Given the description of an element on the screen output the (x, y) to click on. 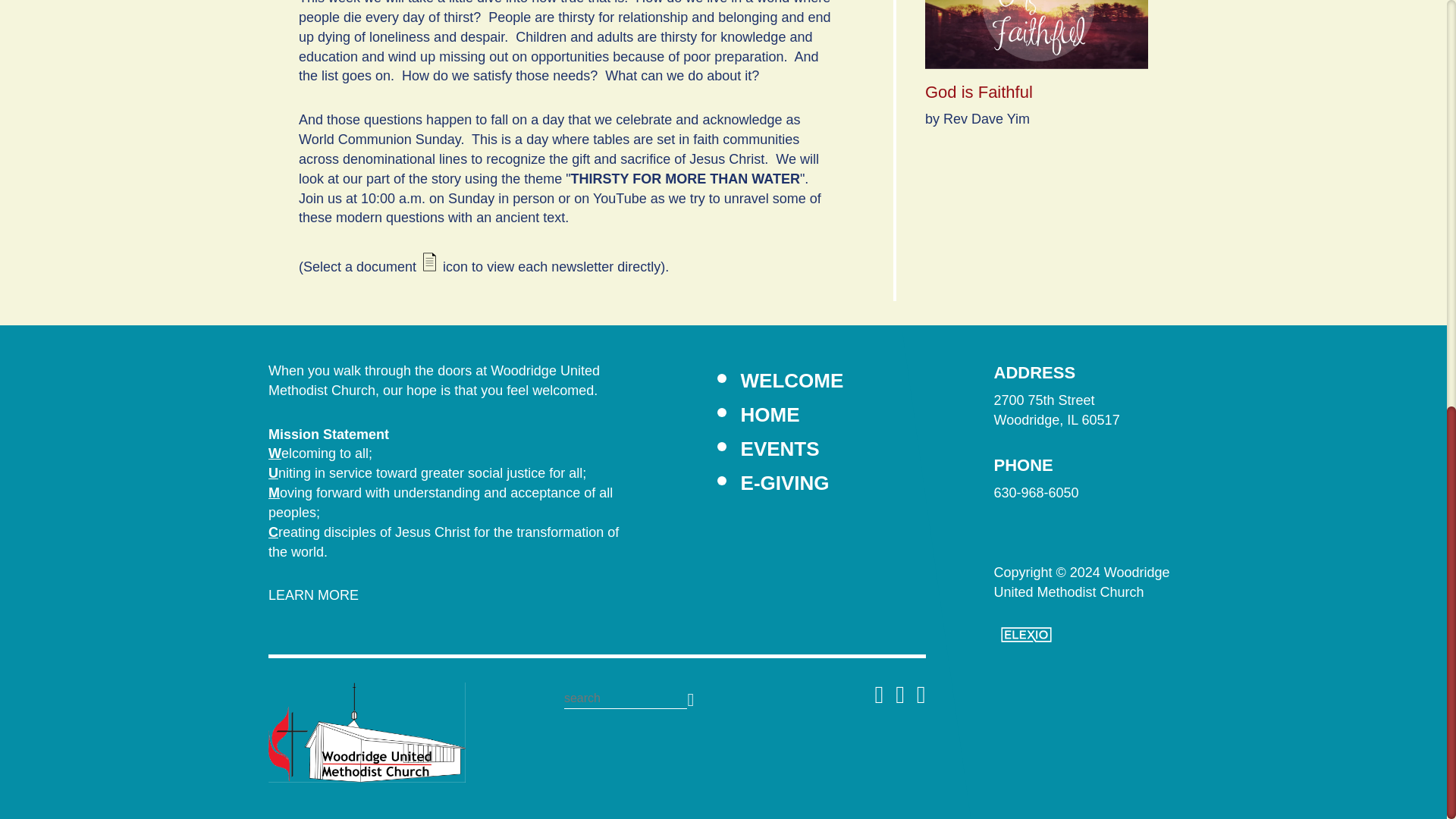
Events (780, 448)
e-Giving (785, 482)
Home (366, 732)
Welcome (792, 380)
Home (770, 414)
